Given the description of an element on the screen output the (x, y) to click on. 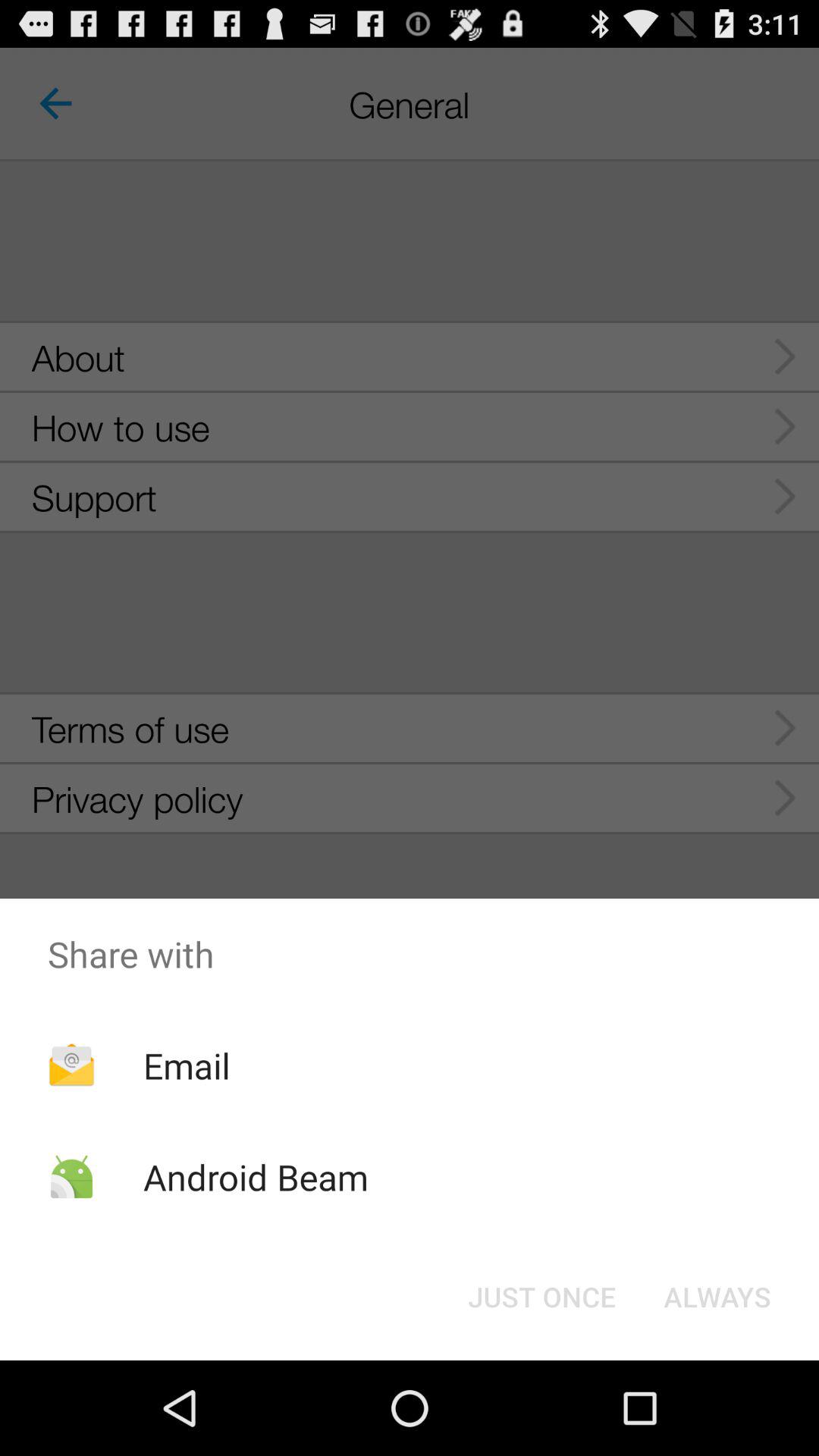
tap the item next to the always button (541, 1296)
